Given the description of an element on the screen output the (x, y) to click on. 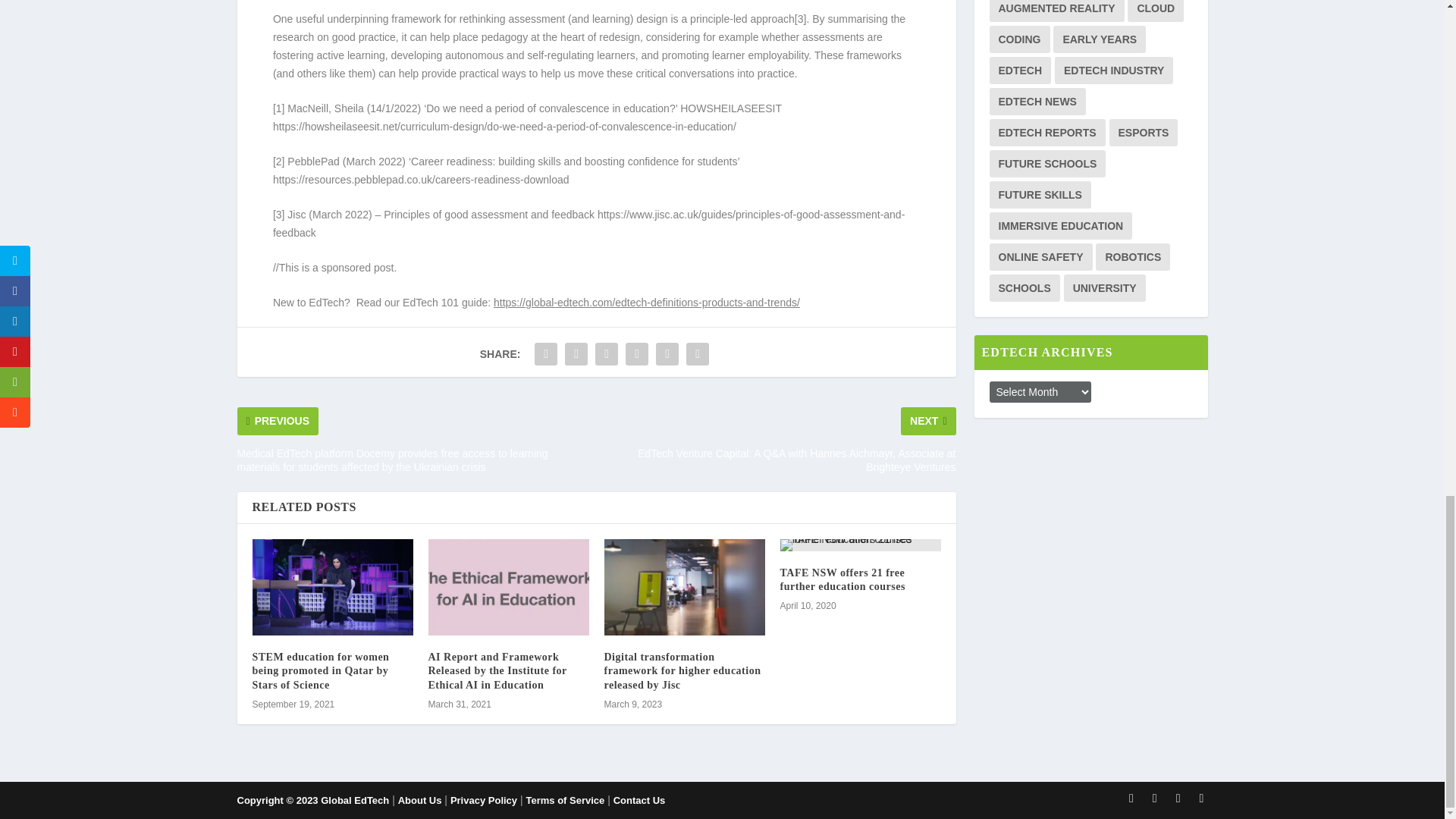
TAFE NSW offers 21 free further education courses (859, 544)
